Given the description of an element on the screen output the (x, y) to click on. 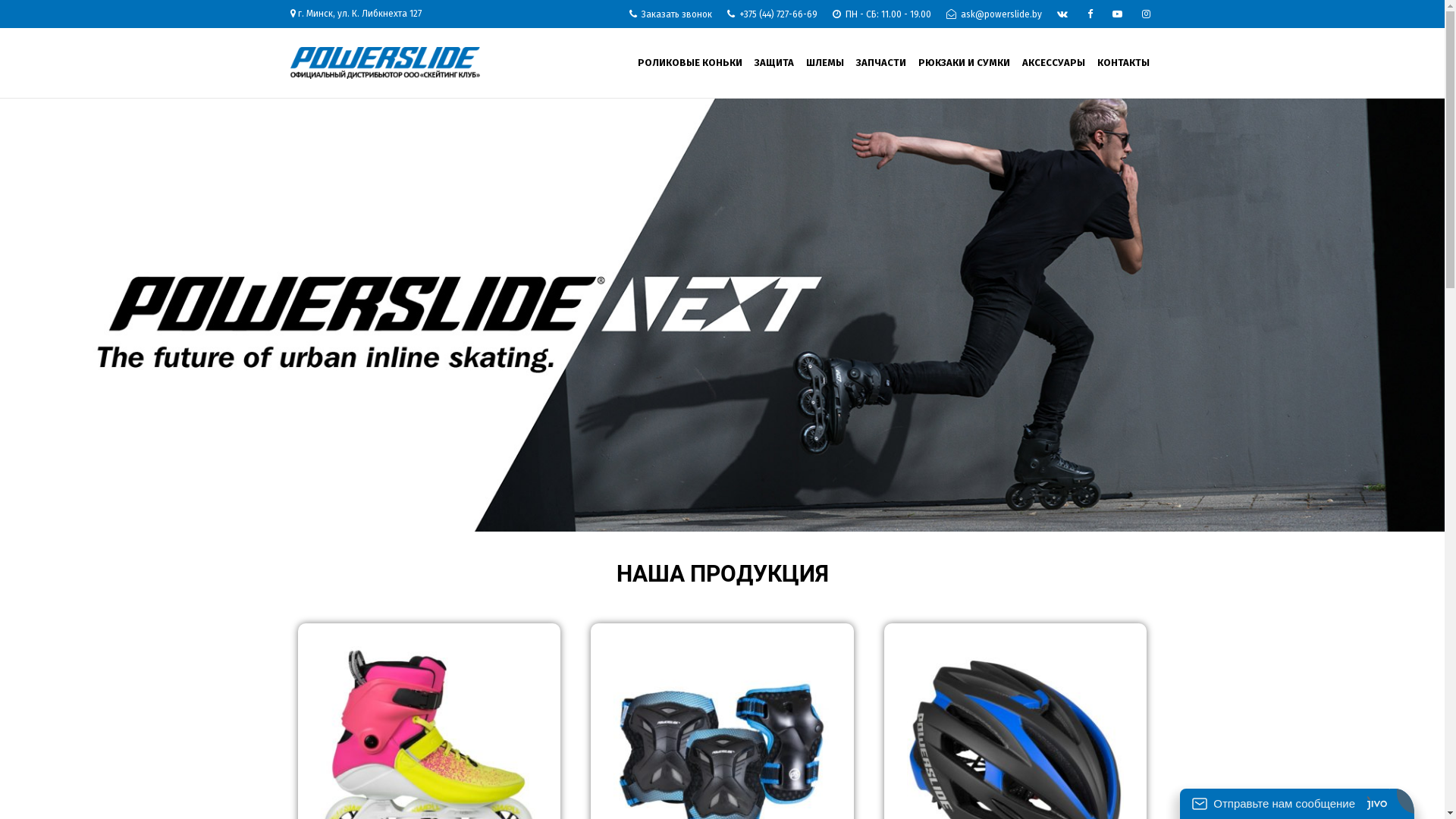
ask@powerslide.by Element type: text (993, 14)
+375 (44) 727-66-69 Element type: text (771, 14)
